Given the description of an element on the screen output the (x, y) to click on. 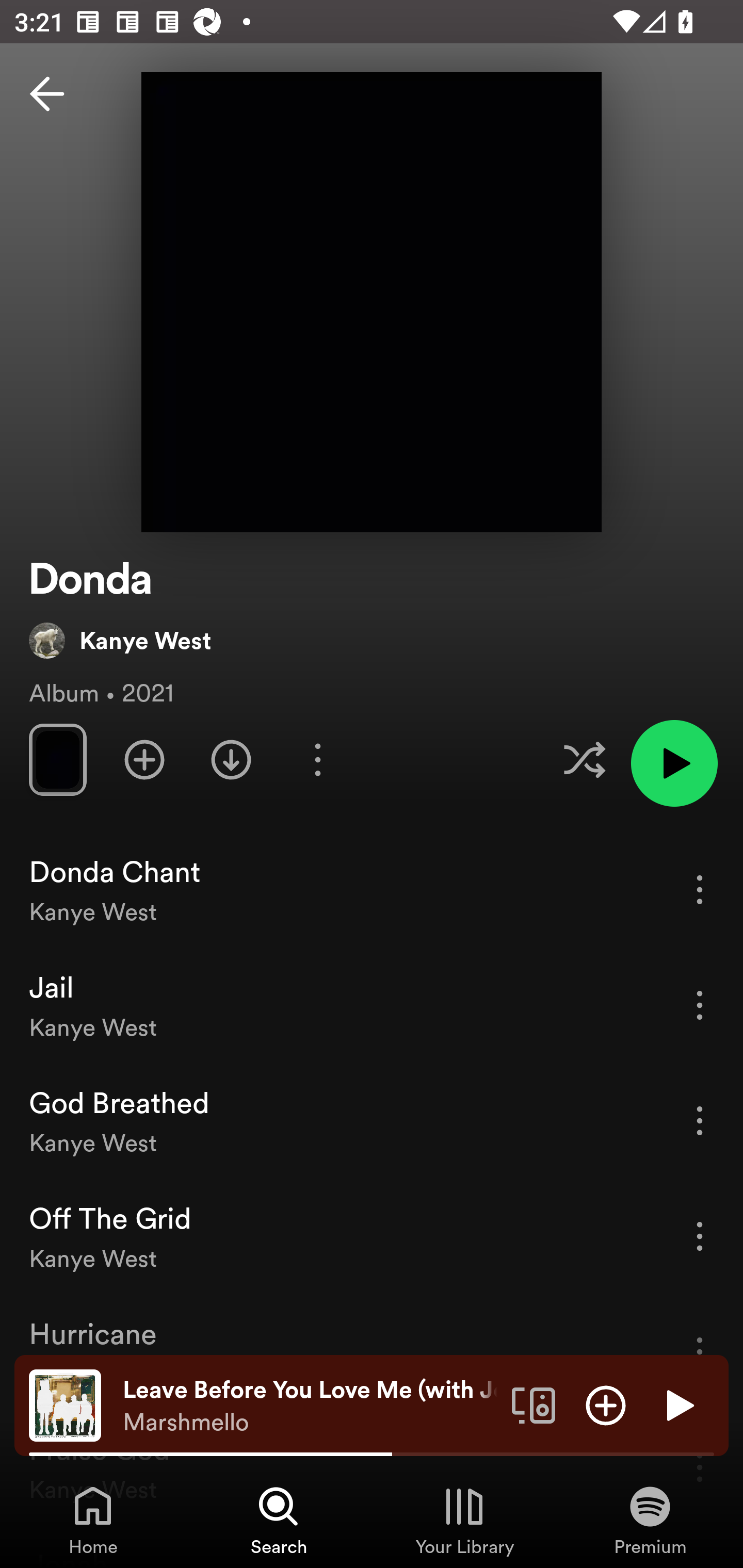
Back (46, 93)
Kanye West (119, 640)
Swipe through previews of tracks from this album. (57, 759)
Add playlist to Your Library (144, 759)
Download (230, 759)
More options for playlist Donda (317, 759)
Enable shuffle for this playlist (583, 759)
Play playlist (674, 763)
More options for song Donda Chant (699, 889)
Jail Kanye West More options for song Jail (371, 1005)
More options for song Jail (699, 1004)
More options for song God Breathed (699, 1120)
More options for song Off The Grid (699, 1236)
The cover art of the currently playing track (64, 1404)
